Given the description of an element on the screen output the (x, y) to click on. 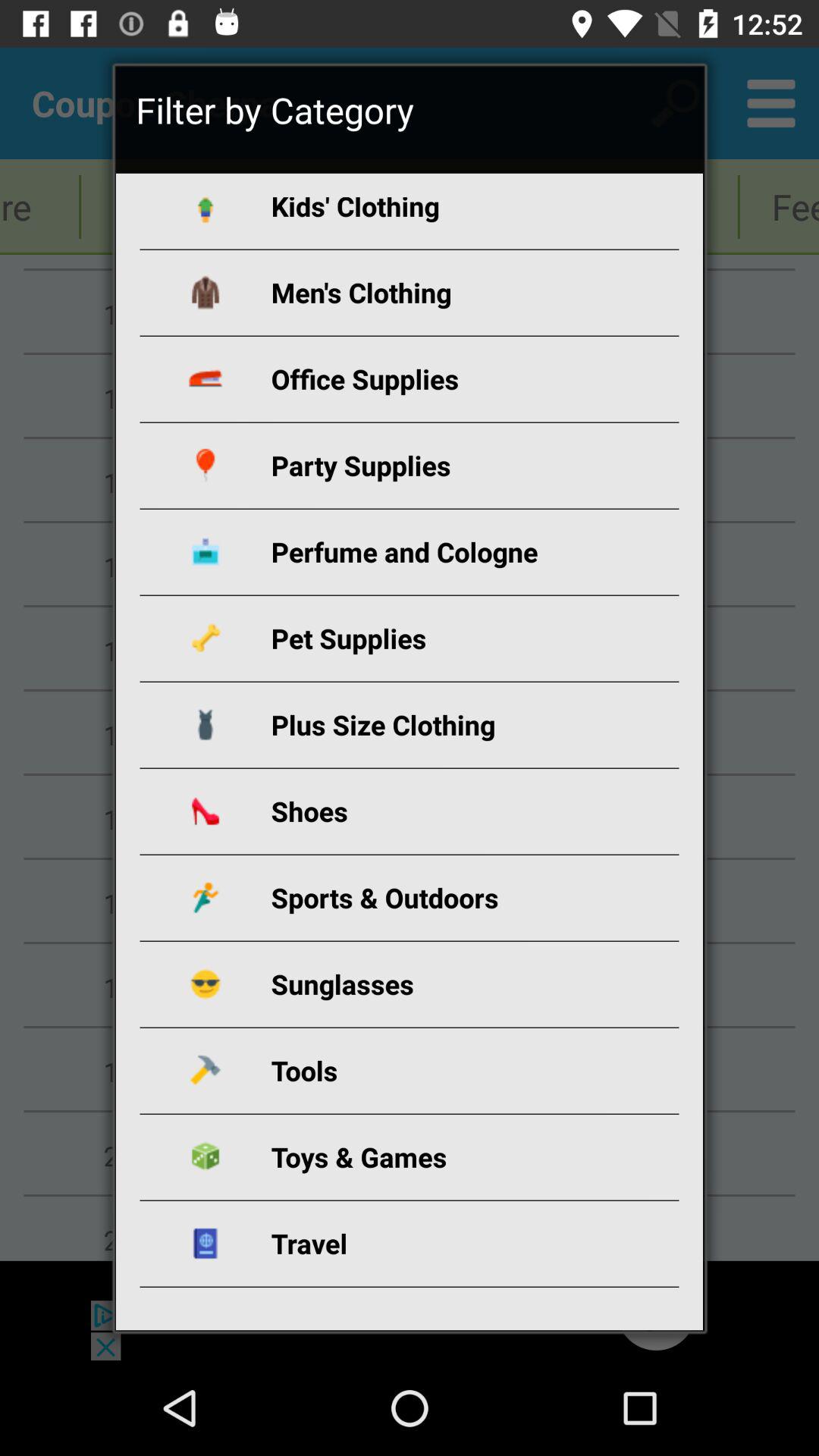
press the plus size clothing icon (427, 724)
